Given the description of an element on the screen output the (x, y) to click on. 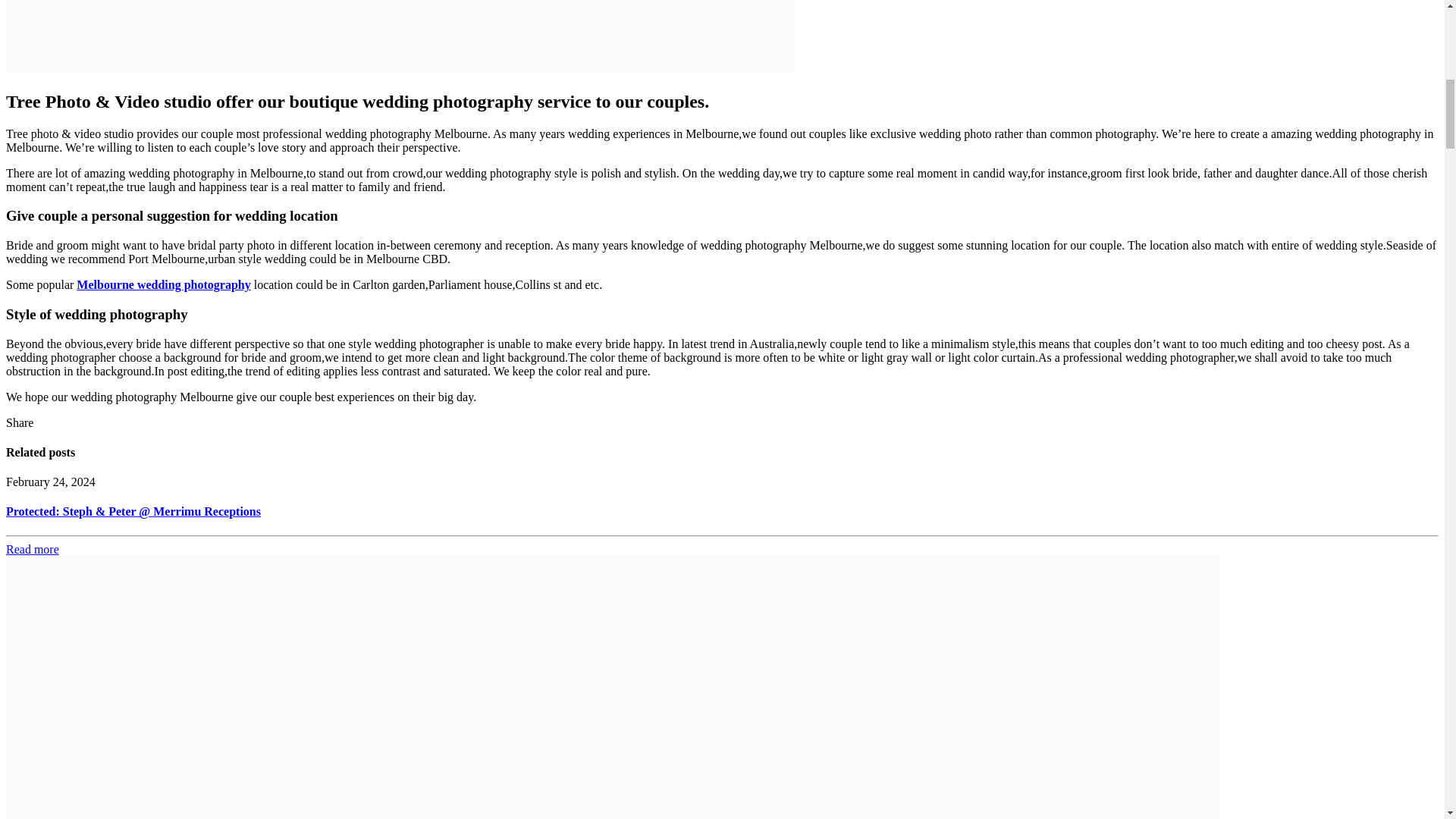
Read more (32, 549)
Melbourne wedding photography (163, 284)
Melbourne wedding photography (163, 284)
